Given the description of an element on the screen output the (x, y) to click on. 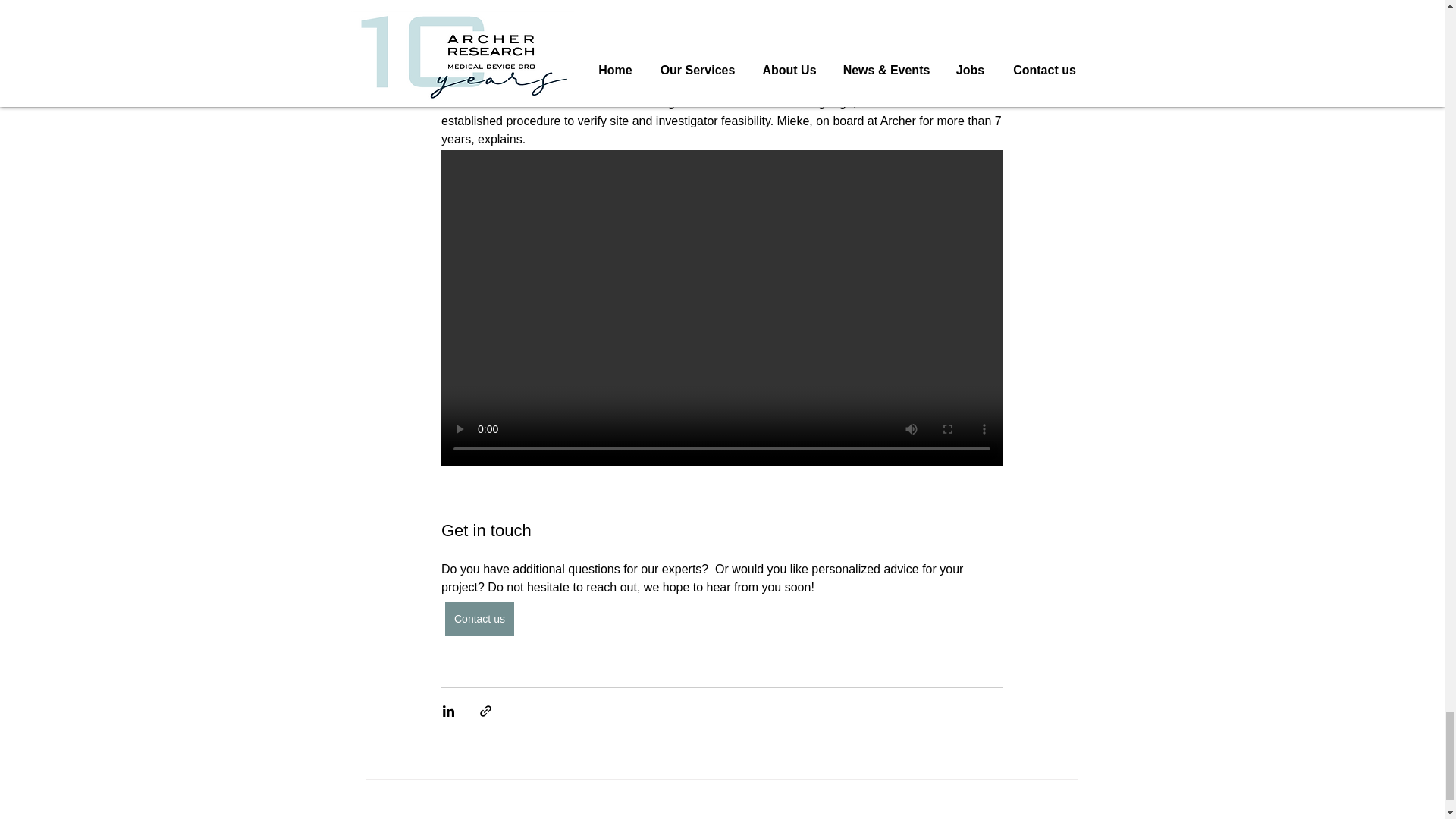
Disclaimer (790, 816)
Contact us (478, 618)
Privacy Policy (662, 815)
Follow Archer Research on LinkedIn (997, 816)
EUCROF (564, 815)
